Given the description of an element on the screen output the (x, y) to click on. 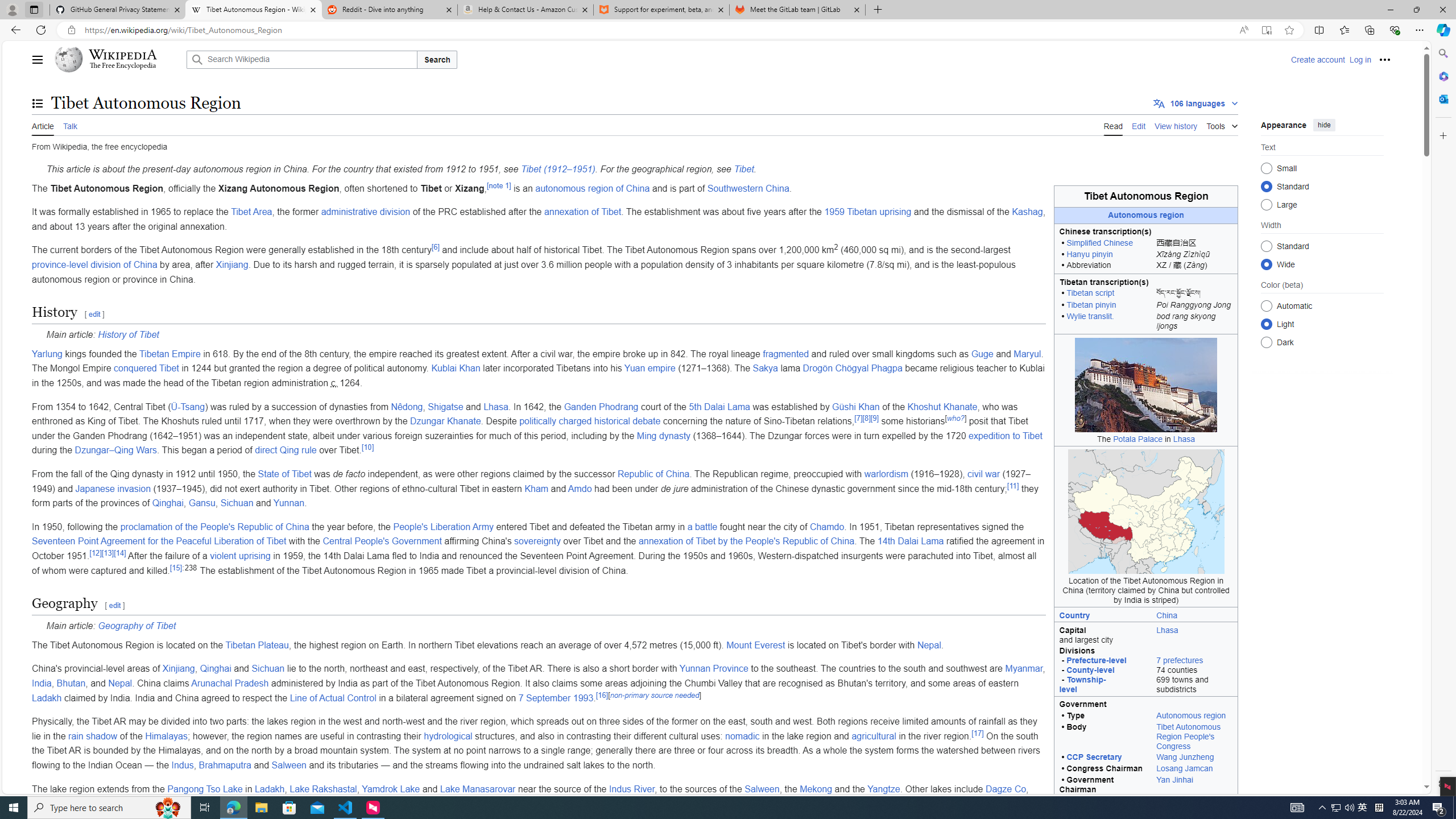
Large (1266, 204)
1959 Tibetan uprising (867, 212)
politically charged historical debate (590, 421)
Wide (1266, 263)
The Free Encyclopedia (121, 65)
Help & Contact Us - Amazon Customer Service - Sleeping (525, 9)
proclamation of the People's Republic of China (213, 526)
7 September 1993 (556, 697)
Article (42, 124)
[13] (108, 552)
Lake Manasarovar (477, 788)
violent uprising (239, 555)
Kashag (1026, 212)
